Given the description of an element on the screen output the (x, y) to click on. 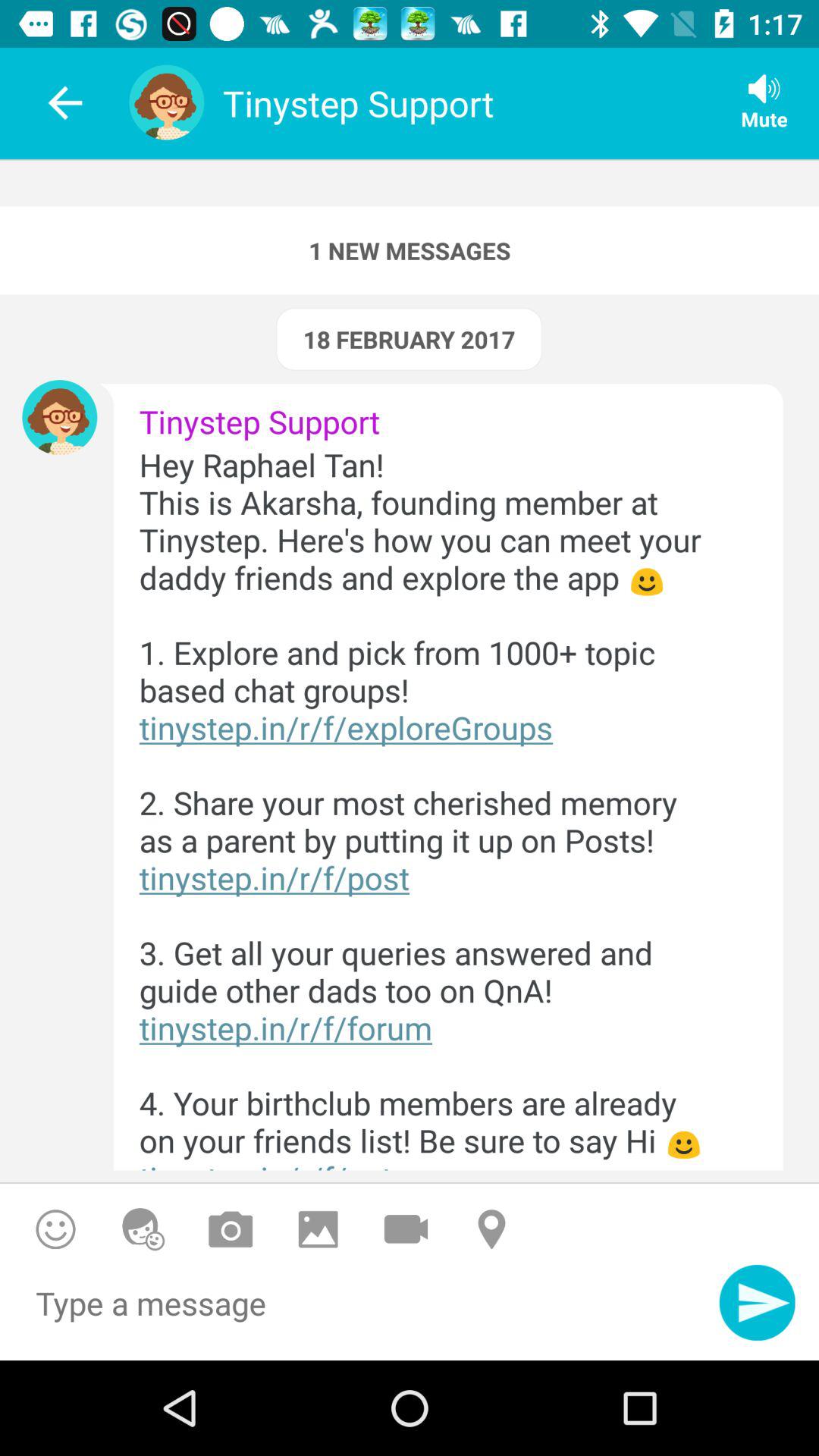
turn off the icon above tinystep support (409, 339)
